Given the description of an element on the screen output the (x, y) to click on. 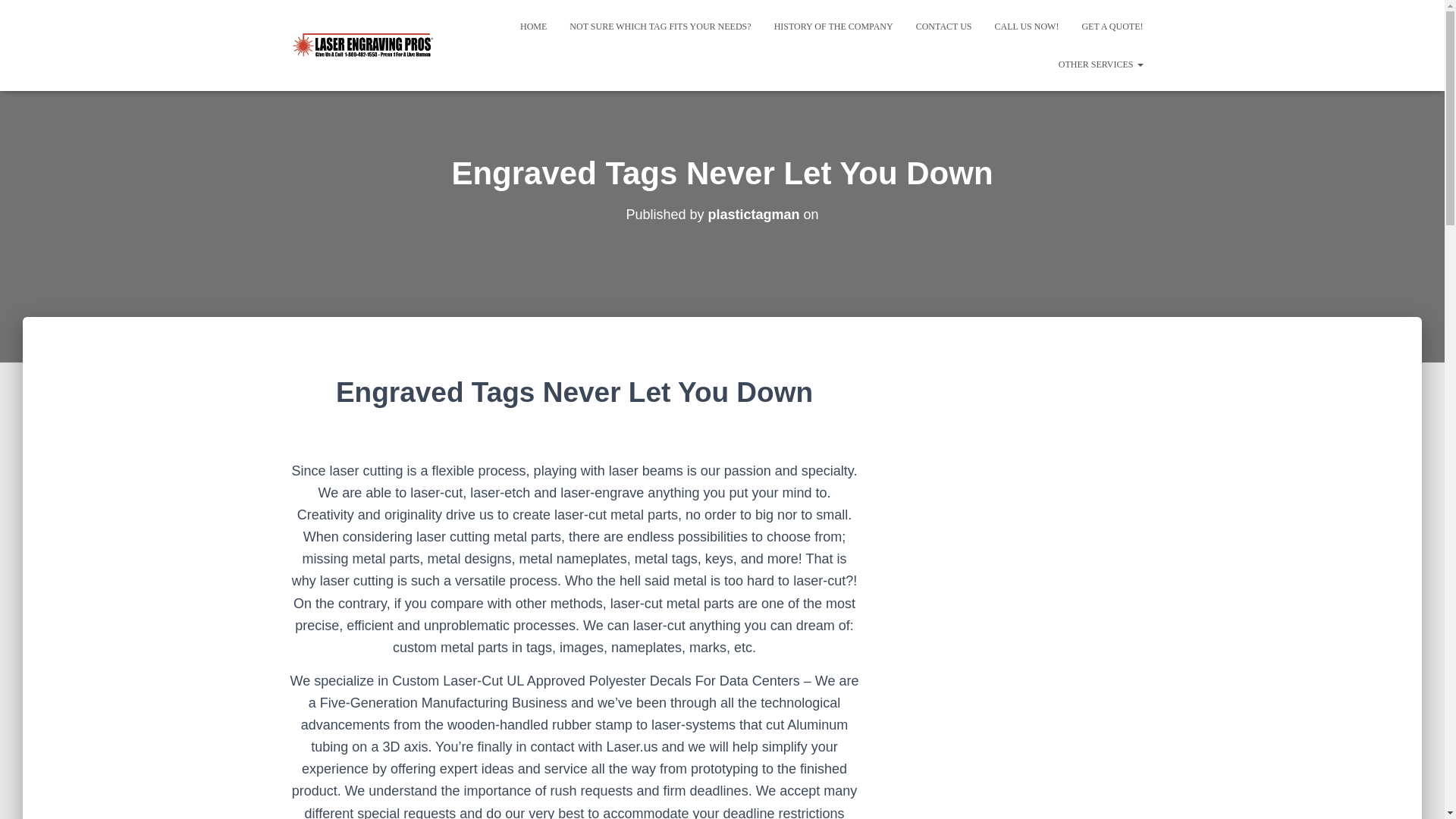
CONTACT US (944, 26)
GET A QUOTE! (1112, 26)
Contact Us (944, 26)
HISTORY OF THE COMPANY (833, 26)
Home (532, 26)
HOME (532, 26)
Call Us Now! (1026, 26)
CALL US NOW! (1026, 26)
Get a Quote! (1112, 26)
plastictagman (753, 214)
